Given the description of an element on the screen output the (x, y) to click on. 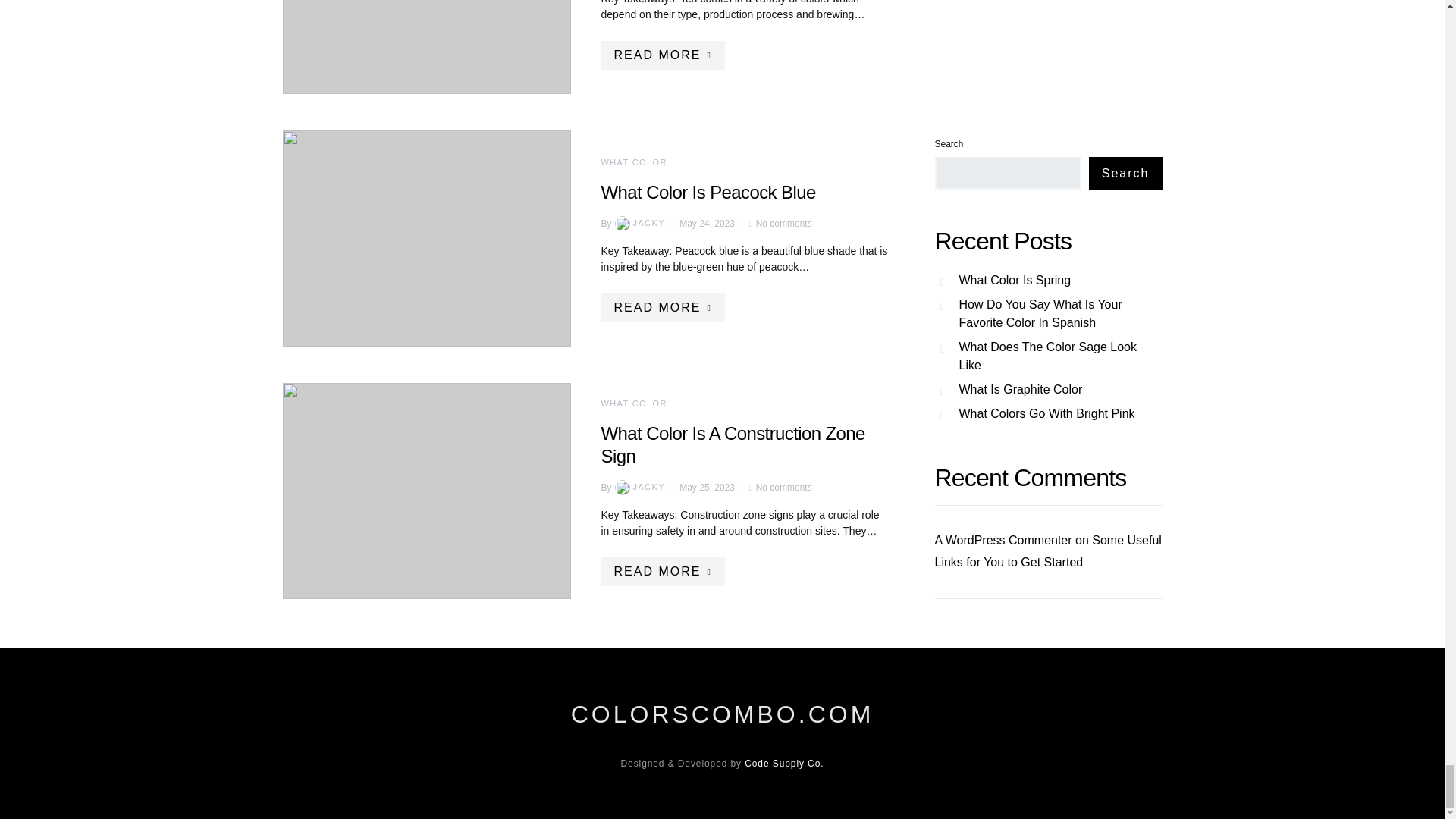
View all posts by Jacky (638, 487)
View all posts by Jacky (638, 223)
